Given the description of an element on the screen output the (x, y) to click on. 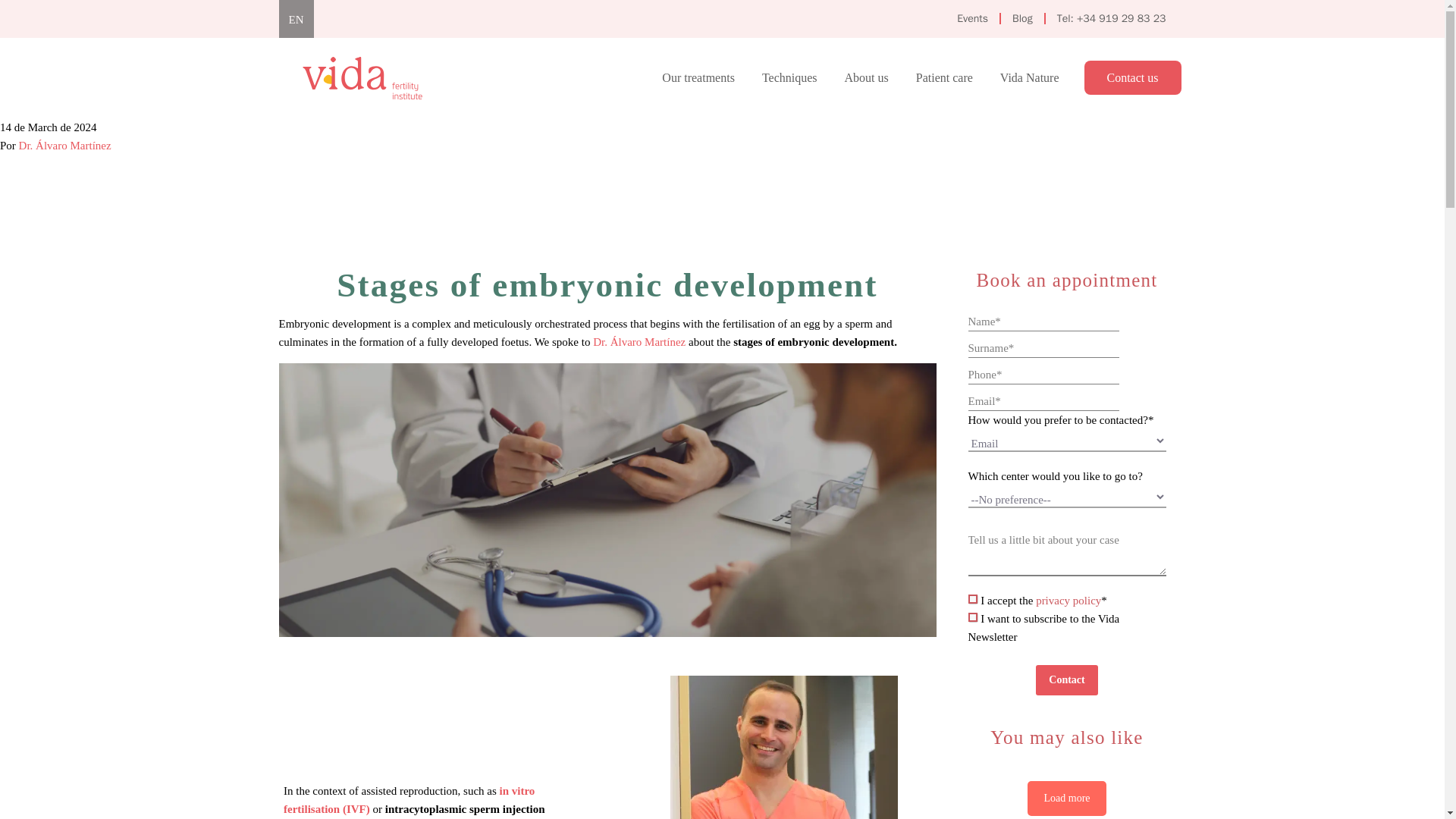
Events (972, 17)
Centro (1067, 496)
Our treatments (697, 76)
dr alvaro martinez vida fertility laboratorio (783, 747)
1 (972, 617)
Vida Nature (1029, 76)
About us (865, 76)
1 (972, 599)
Contact us (1131, 76)
